Given the description of an element on the screen output the (x, y) to click on. 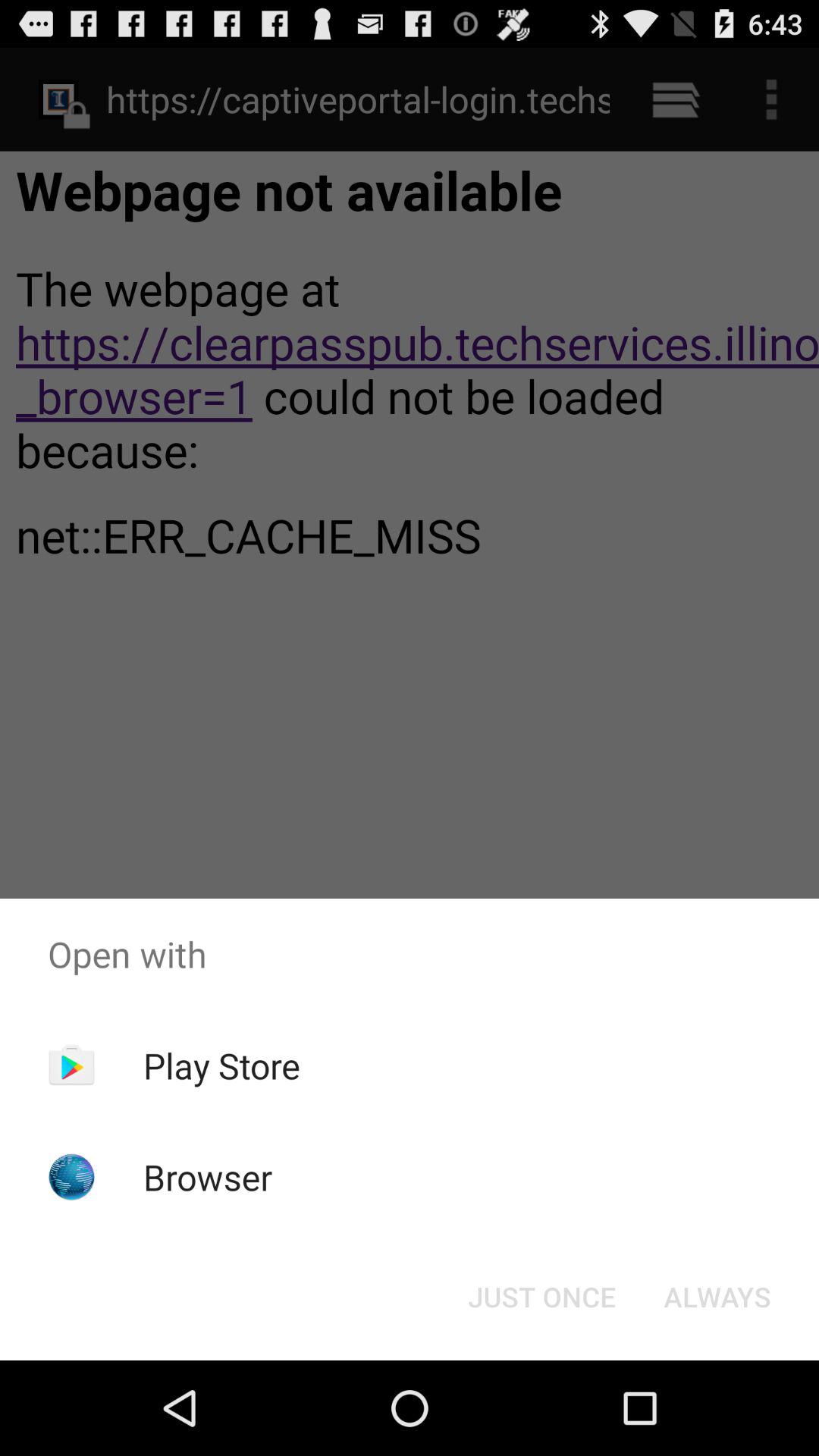
press the always (717, 1296)
